Given the description of an element on the screen output the (x, y) to click on. 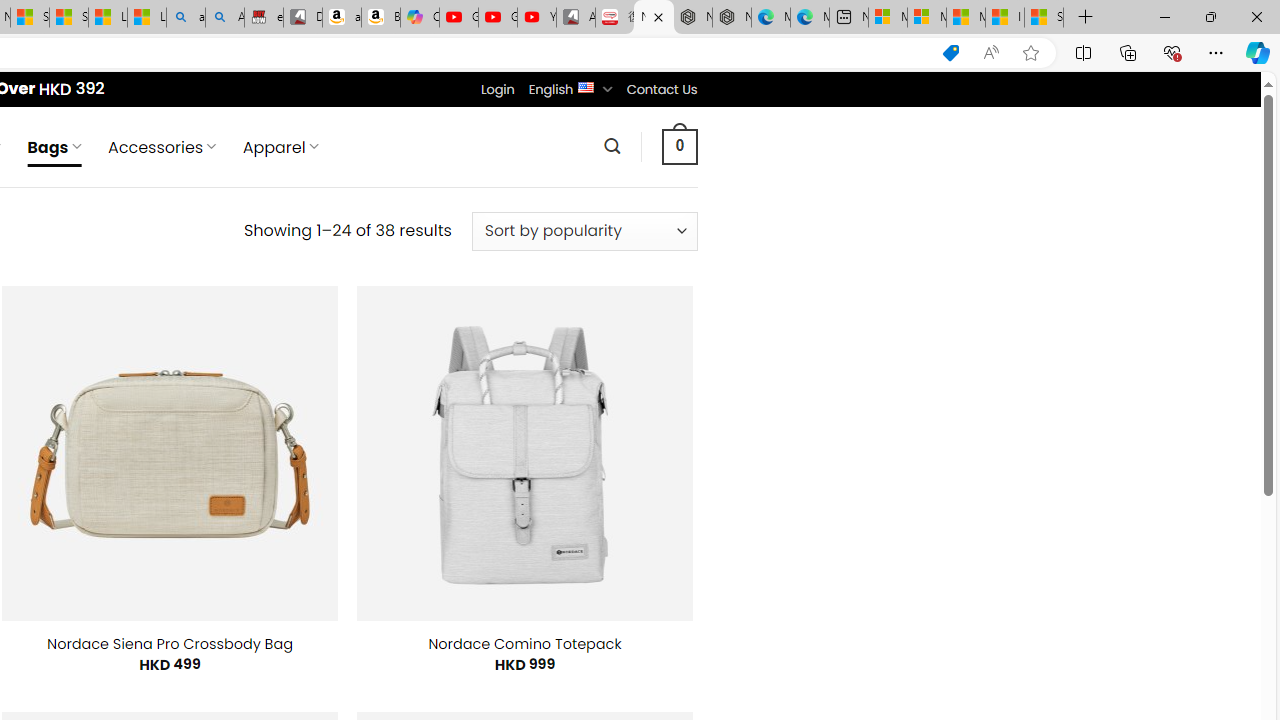
All Cubot phones (575, 17)
amazon.in/dp/B0CX59H5W7/?tag=gsmcom05-21 (341, 17)
Nordace Comino Totepack (524, 643)
Gloom - YouTube (497, 17)
I Gained 20 Pounds of Muscle in 30 Days! | Watch (1004, 17)
